Given the description of an element on the screen output the (x, y) to click on. 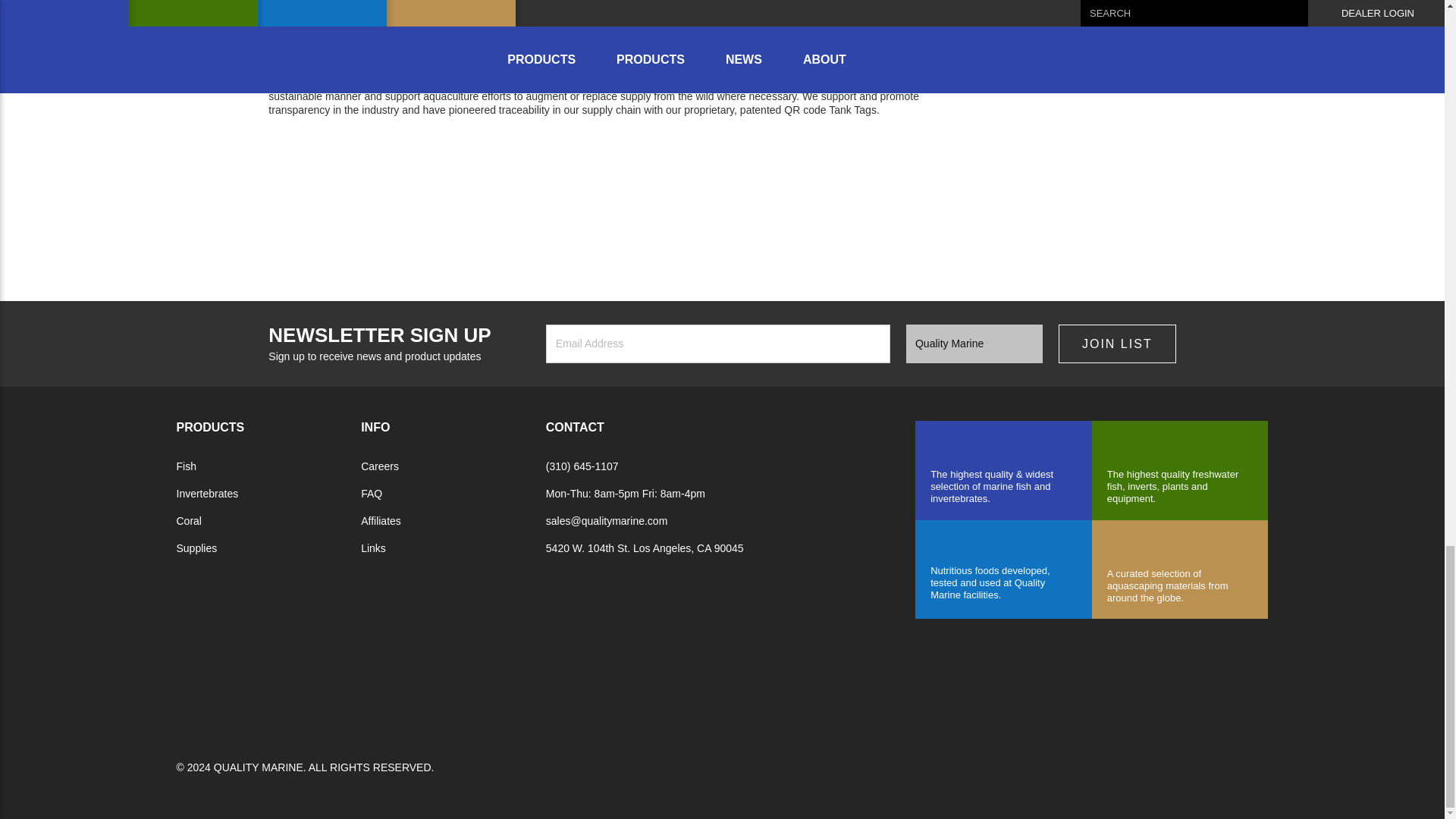
Quality Marine (279, 687)
Nutramar (1003, 568)
Twitter (370, 157)
Quality Marine address (645, 548)
Ecoscape (1179, 569)
Facebook (274, 157)
Pinterest (402, 157)
Print (338, 157)
Aquatropic (1179, 470)
Aquatropic (546, 687)
